Given the description of an element on the screen output the (x, y) to click on. 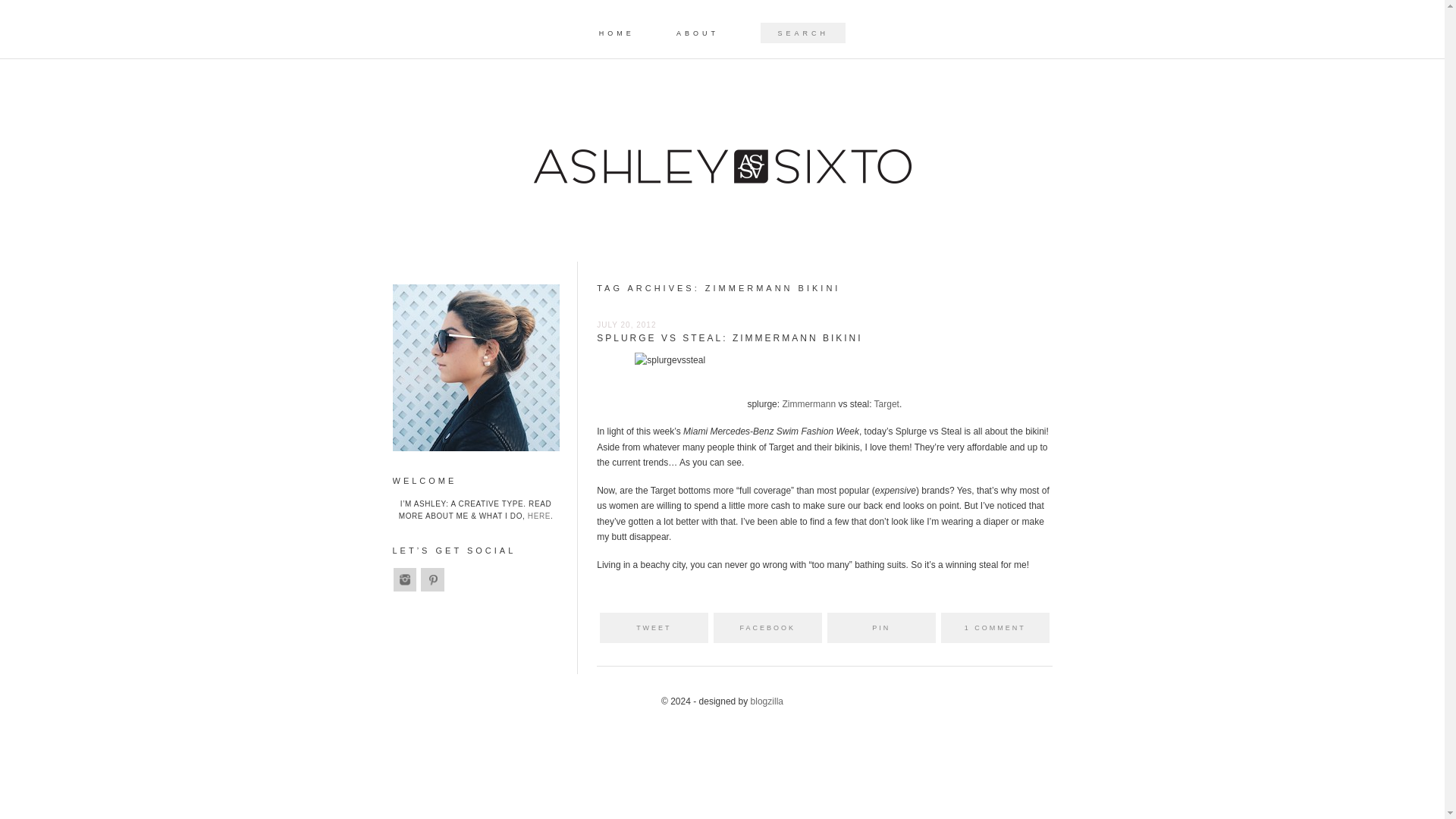
FACEBOOK (767, 627)
Skip to content (751, 26)
TWEET (654, 627)
PIN (881, 627)
ABOUT (698, 33)
splurgevssteal (669, 360)
SPLURGE VS STEAL: ZIMMERMANN BIKINI (728, 337)
HERE (538, 515)
Target (887, 403)
Zimmermann (808, 403)
pastiche (767, 701)
SEARCH (25, 11)
blogzilla (767, 701)
HOME (616, 33)
Skip to content (751, 26)
